Given the description of an element on the screen output the (x, y) to click on. 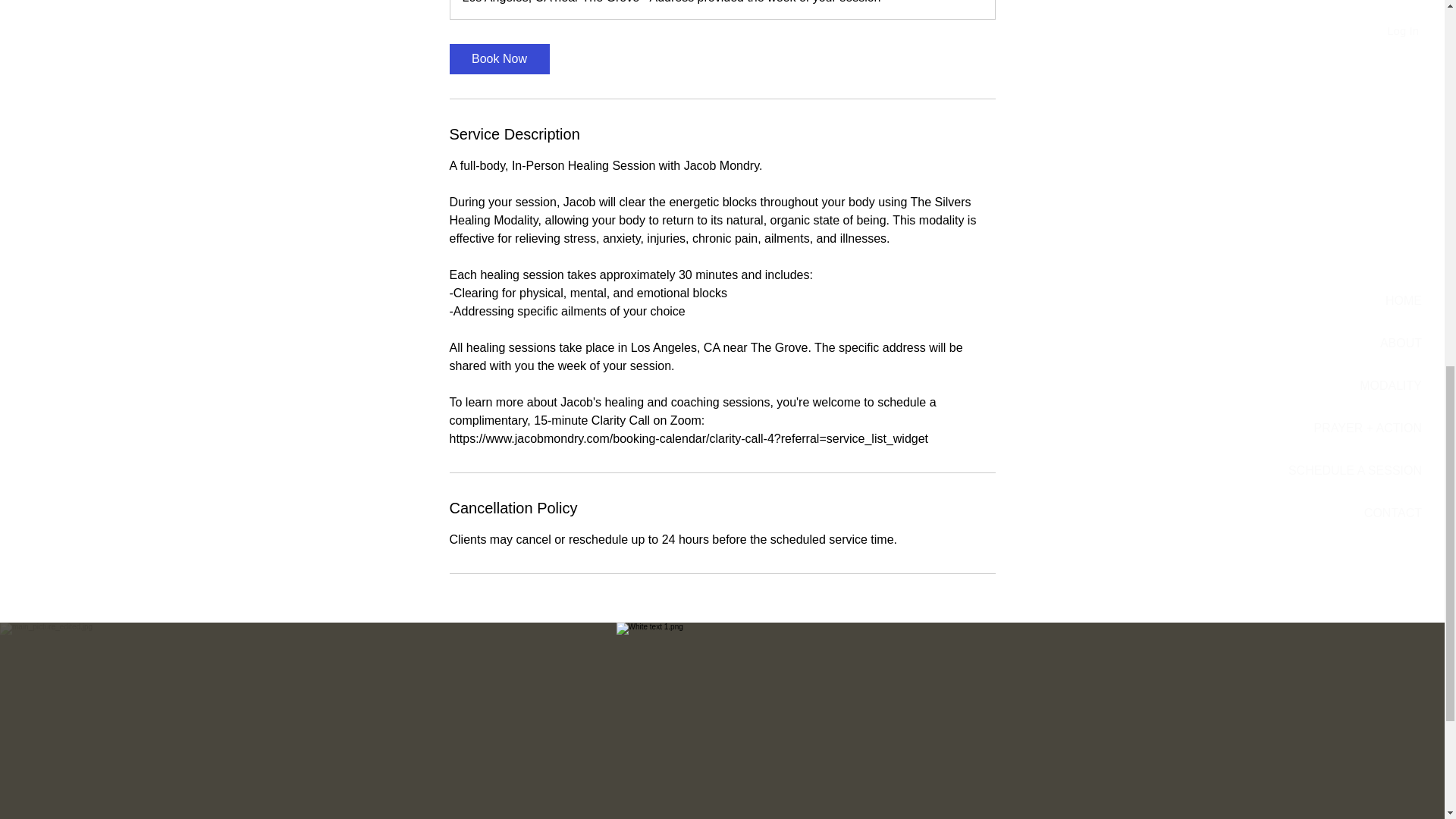
Book Now (498, 59)
